Given the description of an element on the screen output the (x, y) to click on. 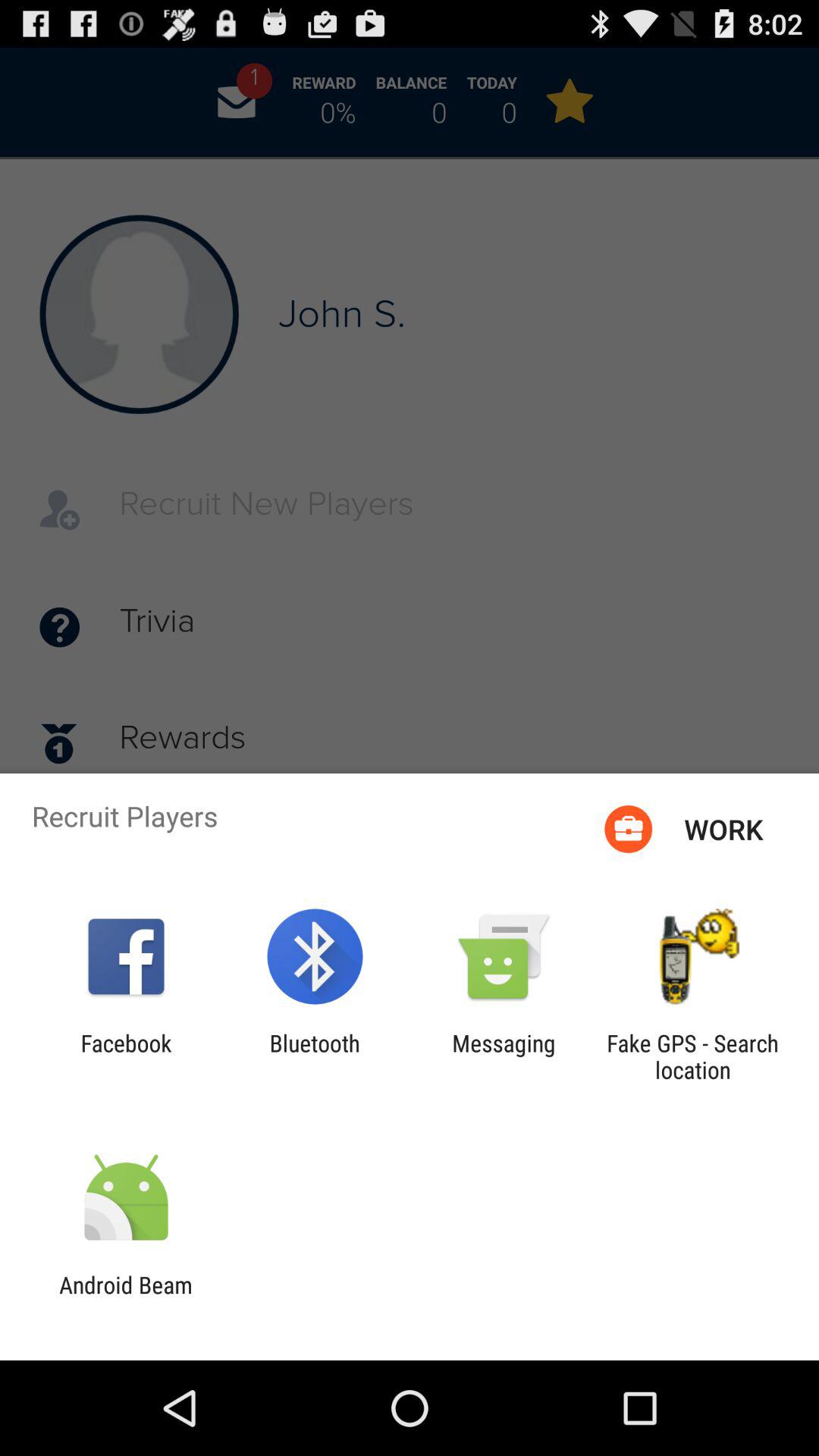
turn on the item to the left of the fake gps search icon (503, 1056)
